Given the description of an element on the screen output the (x, y) to click on. 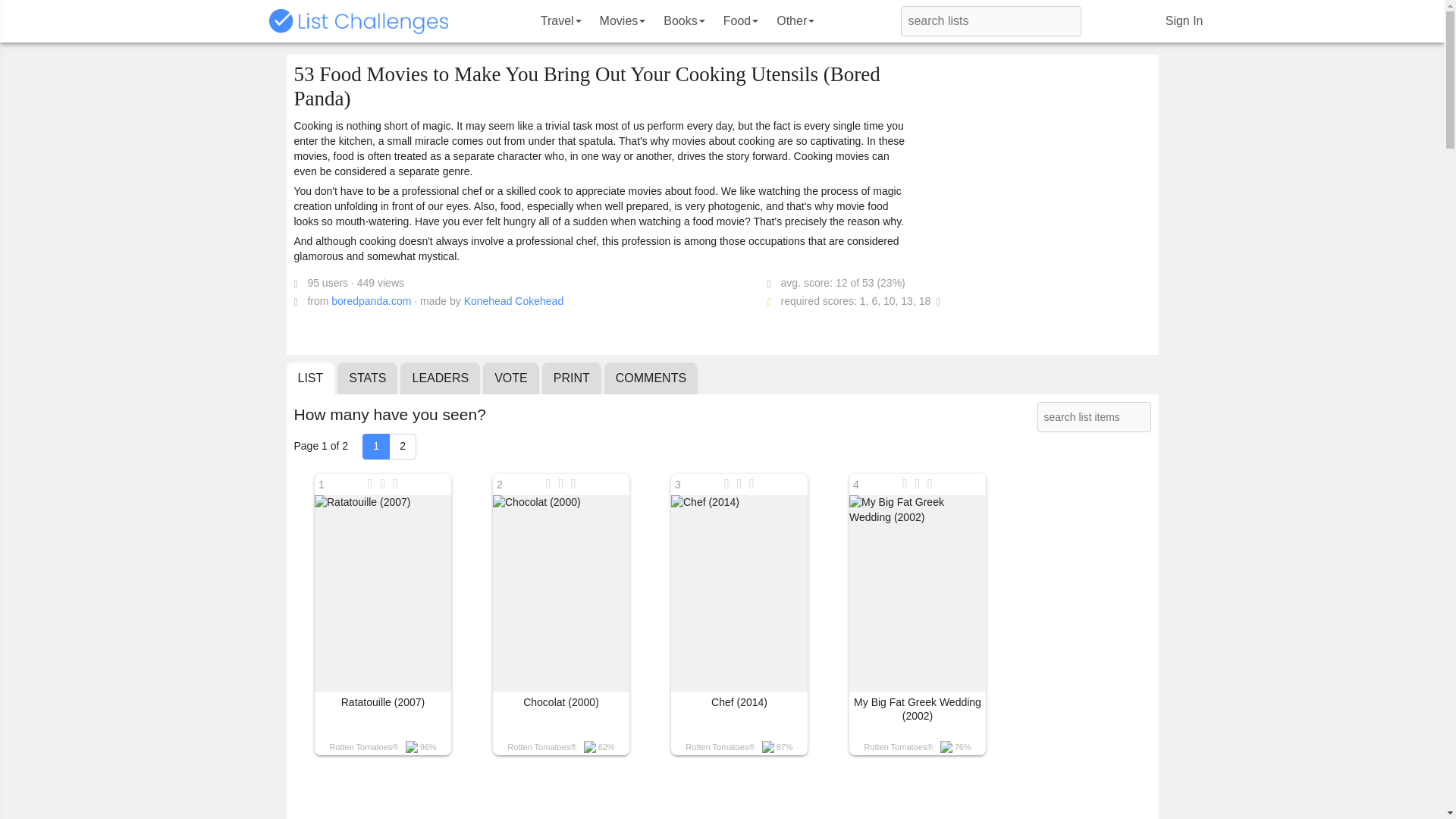
COMMENTS (650, 378)
Sign In (1183, 21)
Other (795, 21)
Food (740, 21)
PRINT (571, 378)
LIST (310, 378)
Books (683, 21)
1 (376, 446)
Movies (623, 21)
VOTE (510, 378)
Konehead Cokehead (514, 300)
2 (402, 446)
Travel (561, 21)
boredpanda.com (370, 300)
LEADERS (440, 378)
